Given the description of an element on the screen output the (x, y) to click on. 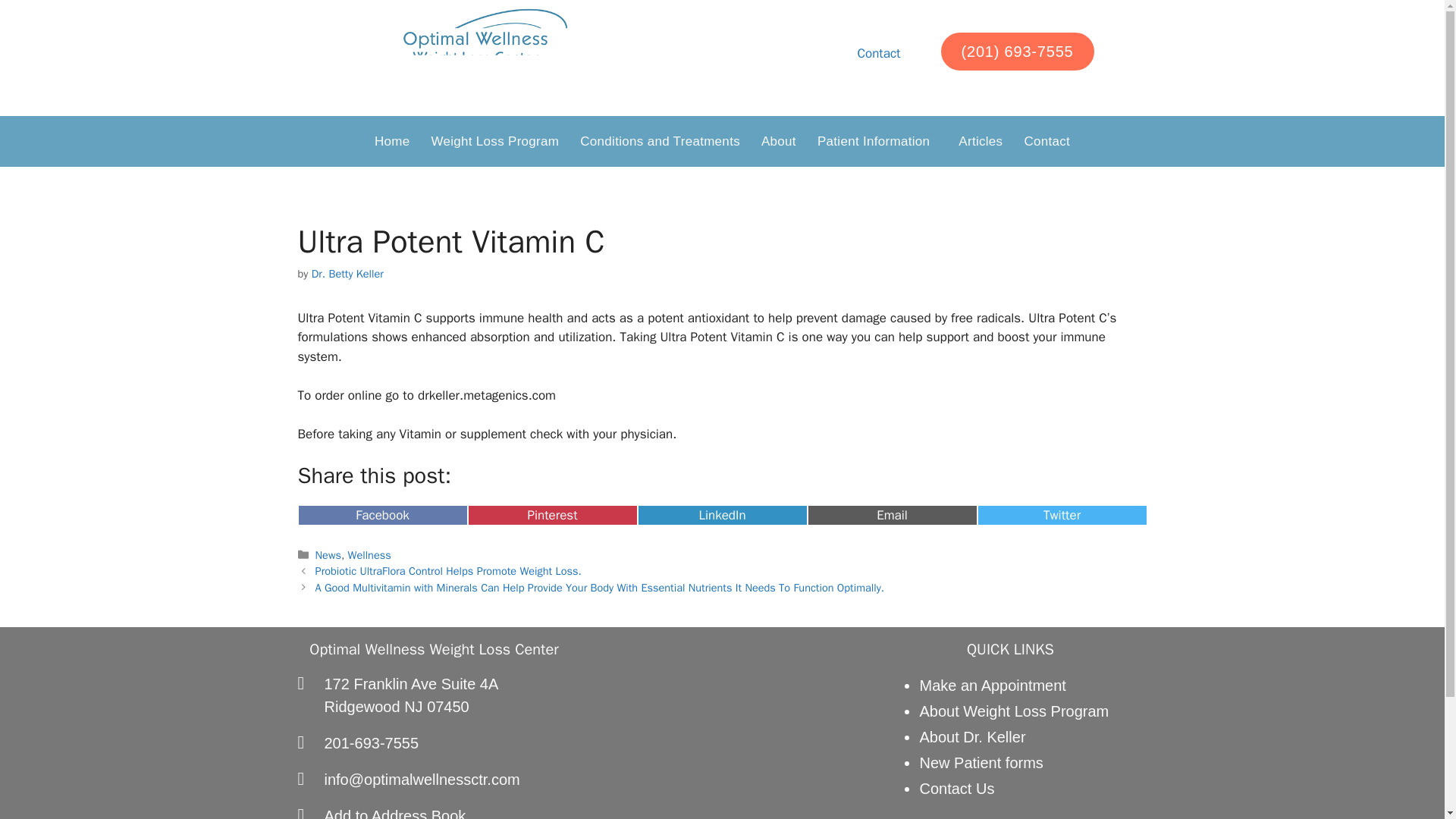
Email (433, 695)
LinkedIn (891, 515)
About (721, 515)
Twitter (778, 140)
Weight Loss Program (1061, 515)
Next (494, 140)
Probiotic UltraFlora Control Helps Promote Weight Loss. (600, 587)
Contact (447, 571)
Articles (1046, 140)
Pinterest (980, 140)
Facebook (552, 515)
Contact (382, 515)
Add to Address Book (878, 53)
Make an Appointment (433, 811)
